Given the description of an element on the screen output the (x, y) to click on. 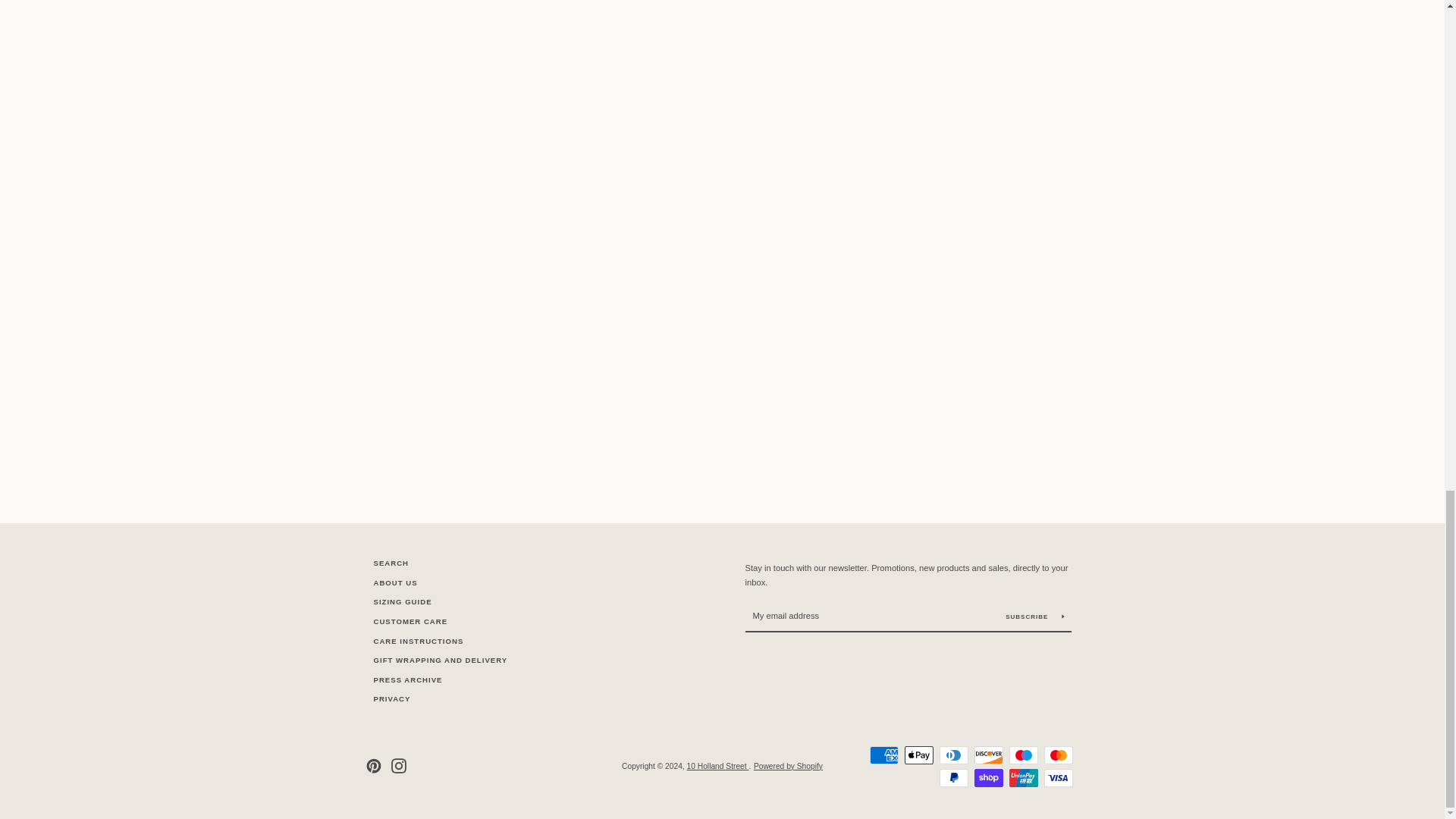
Shop Pay (988, 778)
American Express (883, 755)
Mastercard (1057, 755)
Union Pay (1022, 778)
Apple Pay (918, 755)
10 Holland Street  on Instagram (398, 765)
PayPal (953, 778)
Diners Club (953, 755)
Visa (1057, 778)
10 Holland Street  on Pinterest (372, 765)
